Given the description of an element on the screen output the (x, y) to click on. 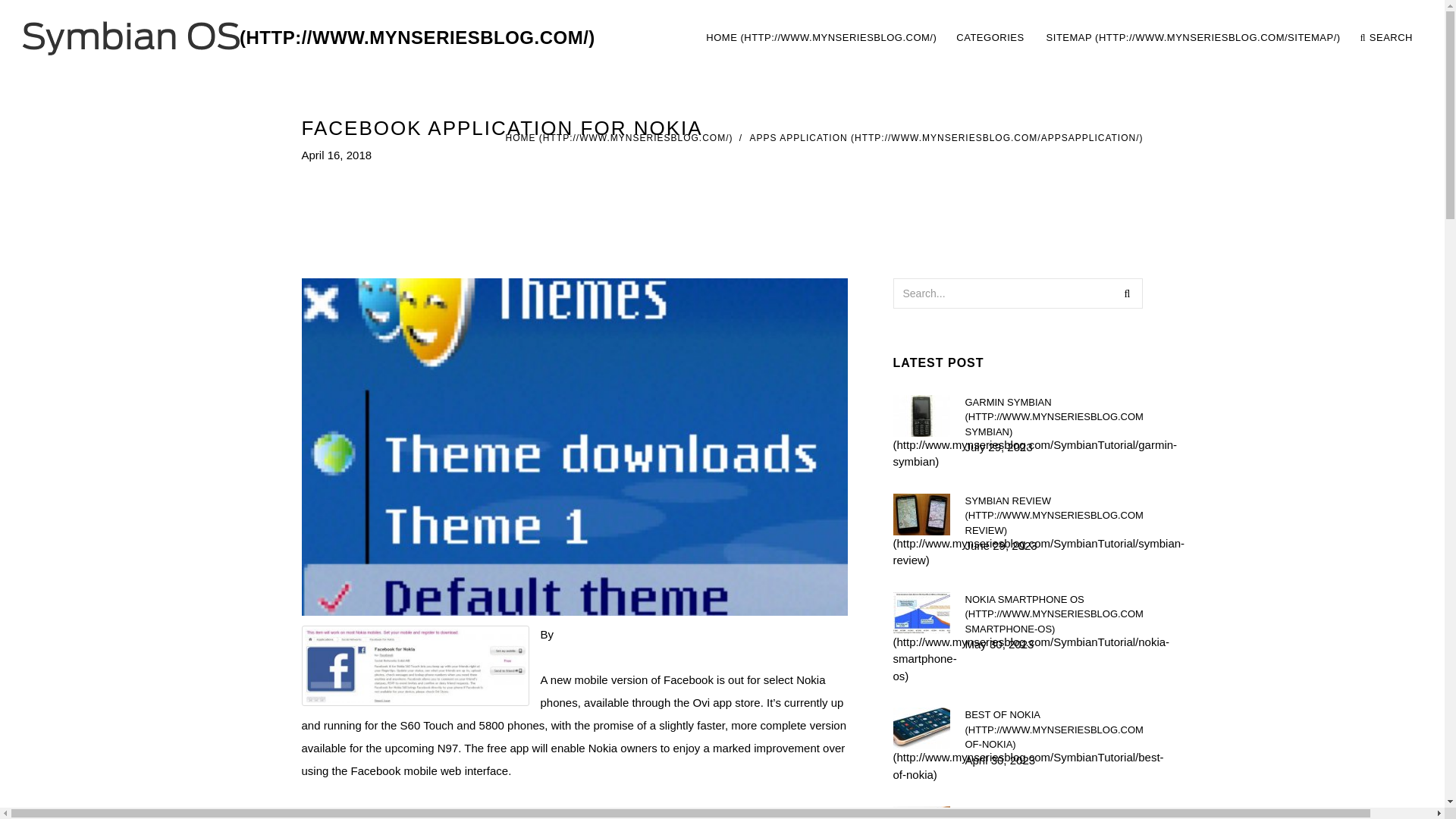
Search (1126, 292)
Symbian OS (309, 38)
HOME (820, 38)
APPS APPLICATION (945, 137)
CATEGORIES (991, 38)
HOME (619, 137)
WHAT IS THE NEWEST NOKIA PHONE? (1052, 812)
BEST OF NOKIA (1052, 729)
SITEMAP (1058, 38)
